Given the description of an element on the screen output the (x, y) to click on. 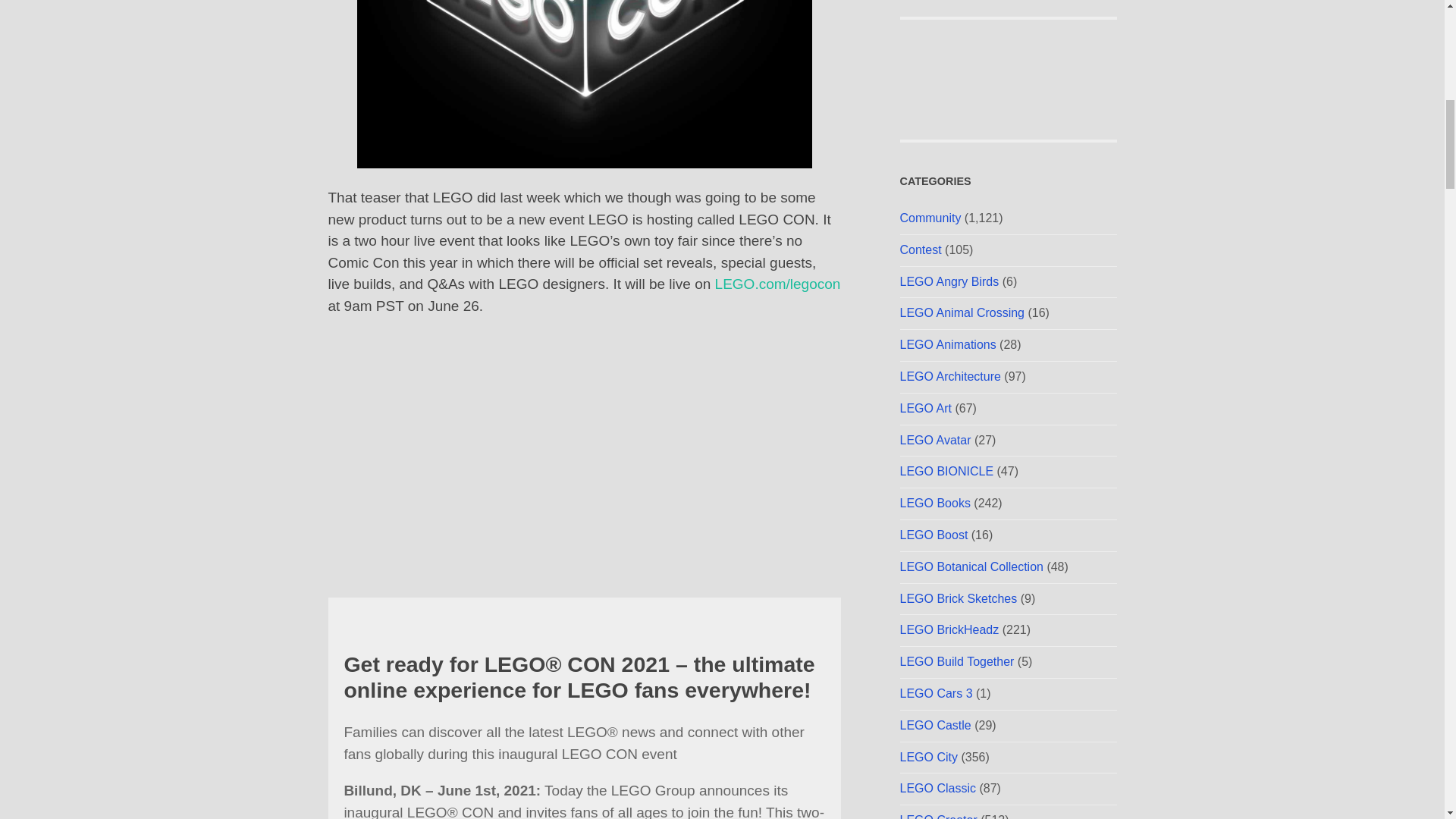
YouTube video player (583, 451)
